Given the description of an element on the screen output the (x, y) to click on. 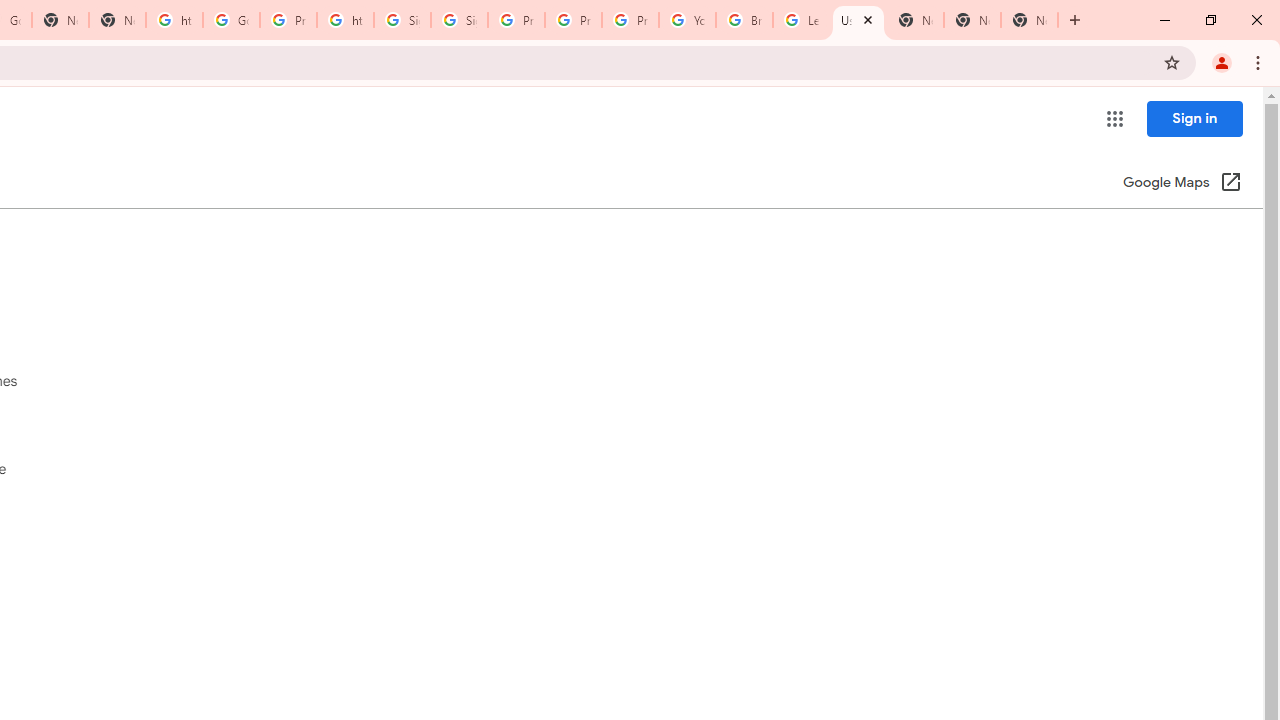
Sign in - Google Accounts (459, 20)
New Tab (971, 20)
Privacy Help Center - Policies Help (573, 20)
https://scholar.google.com/ (345, 20)
Sign in - Google Accounts (402, 20)
Google Maps (Open in a new window) (1182, 183)
